Given the description of an element on the screen output the (x, y) to click on. 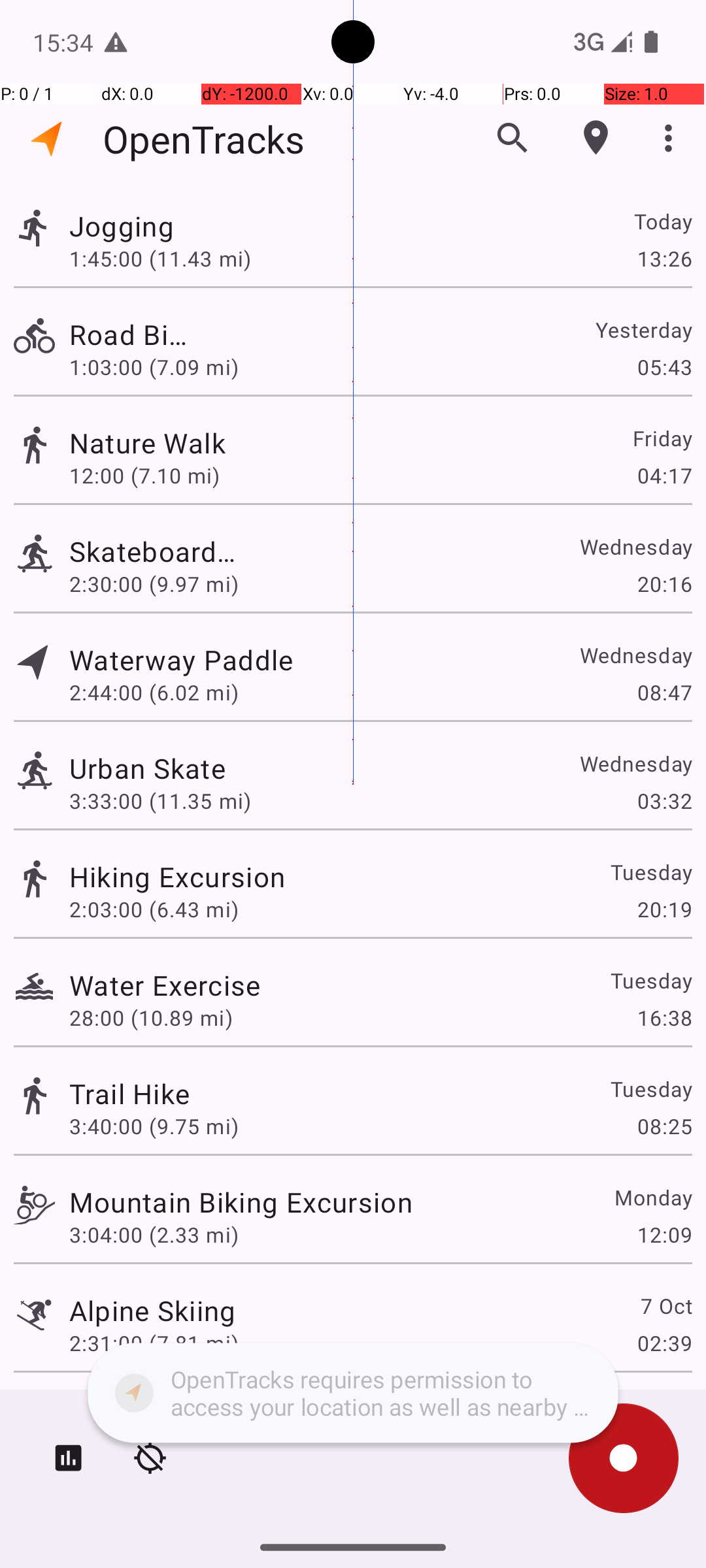
OpenTracks Element type: android.widget.TextView (203, 138)
Markers Element type: android.widget.Button (595, 137)
Record Element type: android.widget.ImageButton (623, 1458)
Track Element type: android.widget.ImageView (33, 227)
Jogging Element type: android.widget.TextView (164, 225)
Today Element type: android.widget.TextView (662, 221)
1:45:00 (11.43 mi) Element type: android.widget.TextView (159, 258)
13:26 Element type: android.widget.TextView (664, 258)
Road Bike Ride Element type: android.widget.TextView (129, 333)
Yesterday Element type: android.widget.TextView (643, 329)
1:03:00 (7.09 mi) Element type: android.widget.TextView (153, 366)
05:43 Element type: android.widget.TextView (664, 366)
Nature Walk Element type: android.widget.TextView (240, 442)
Friday Element type: android.widget.TextView (661, 438)
12:00 (7.10 mi) Element type: android.widget.TextView (153, 475)
04:17 Element type: android.widget.TextView (664, 475)
Skateboard Trek Element type: android.widget.TextView (152, 550)
Wednesday Element type: android.widget.TextView (635, 546)
2:30:00 (9.97 mi) Element type: android.widget.TextView (153, 583)
20:16 Element type: android.widget.TextView (664, 583)
Waterway Paddle Element type: android.widget.TextView (197, 659)
2:44:00 (6.02 mi) Element type: android.widget.TextView (161, 692)
08:47 Element type: android.widget.TextView (664, 692)
Urban Skate Element type: android.widget.TextView (147, 767)
3:33:00 (11.35 mi) Element type: android.widget.TextView (159, 800)
03:32 Element type: android.widget.TextView (664, 800)
Hiking Excursion Element type: android.widget.TextView (176, 876)
Tuesday Element type: android.widget.TextView (650, 871)
2:03:00 (6.43 mi) Element type: android.widget.TextView (153, 909)
20:19 Element type: android.widget.TextView (664, 909)
Water Exercise Element type: android.widget.TextView (164, 984)
28:00 (10.89 mi) Element type: android.widget.TextView (150, 1017)
16:38 Element type: android.widget.TextView (664, 1017)
Trail Hike Element type: android.widget.TextView (129, 1092)
3:40:00 (9.75 mi) Element type: android.widget.TextView (153, 1125)
08:25 Element type: android.widget.TextView (664, 1125)
Mountain Biking Excursion Element type: android.widget.TextView (240, 1201)
Monday Element type: android.widget.TextView (652, 1197)
3:04:00 (2.33 mi) Element type: android.widget.TextView (153, 1234)
12:09 Element type: android.widget.TextView (664, 1234)
Alpine Skiing Element type: android.widget.TextView (152, 1309)
7 Oct Element type: android.widget.TextView (665, 1305)
2:31:00 (7.81 mi) Element type: android.widget.TextView (153, 1342)
02:39 Element type: android.widget.TextView (664, 1342)
Trail Run Expedition Element type: android.widget.TextView (197, 1408)
5 Oct Element type: android.widget.TextView (665, 1408)
